Given the description of an element on the screen output the (x, y) to click on. 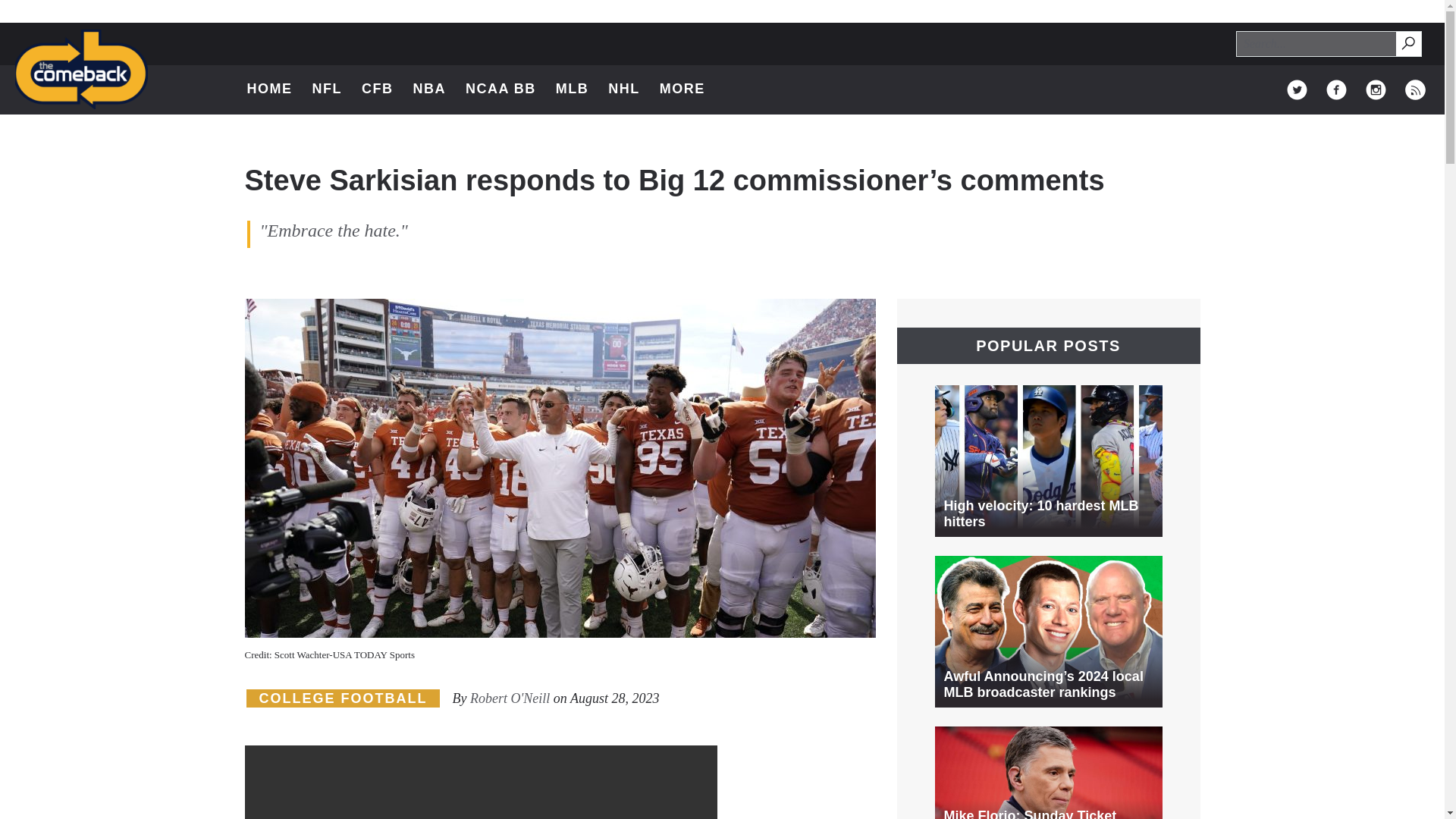
Link to Instagram (1336, 89)
SEARCH (1414, 89)
Link to RSS (1375, 89)
NBA (1407, 42)
CFB (1414, 89)
MORE (428, 89)
NCAA BB (376, 89)
NHL (689, 89)
COLLEGE FOOTBALL (500, 89)
Link to Twitter (624, 89)
